Given the description of an element on the screen output the (x, y) to click on. 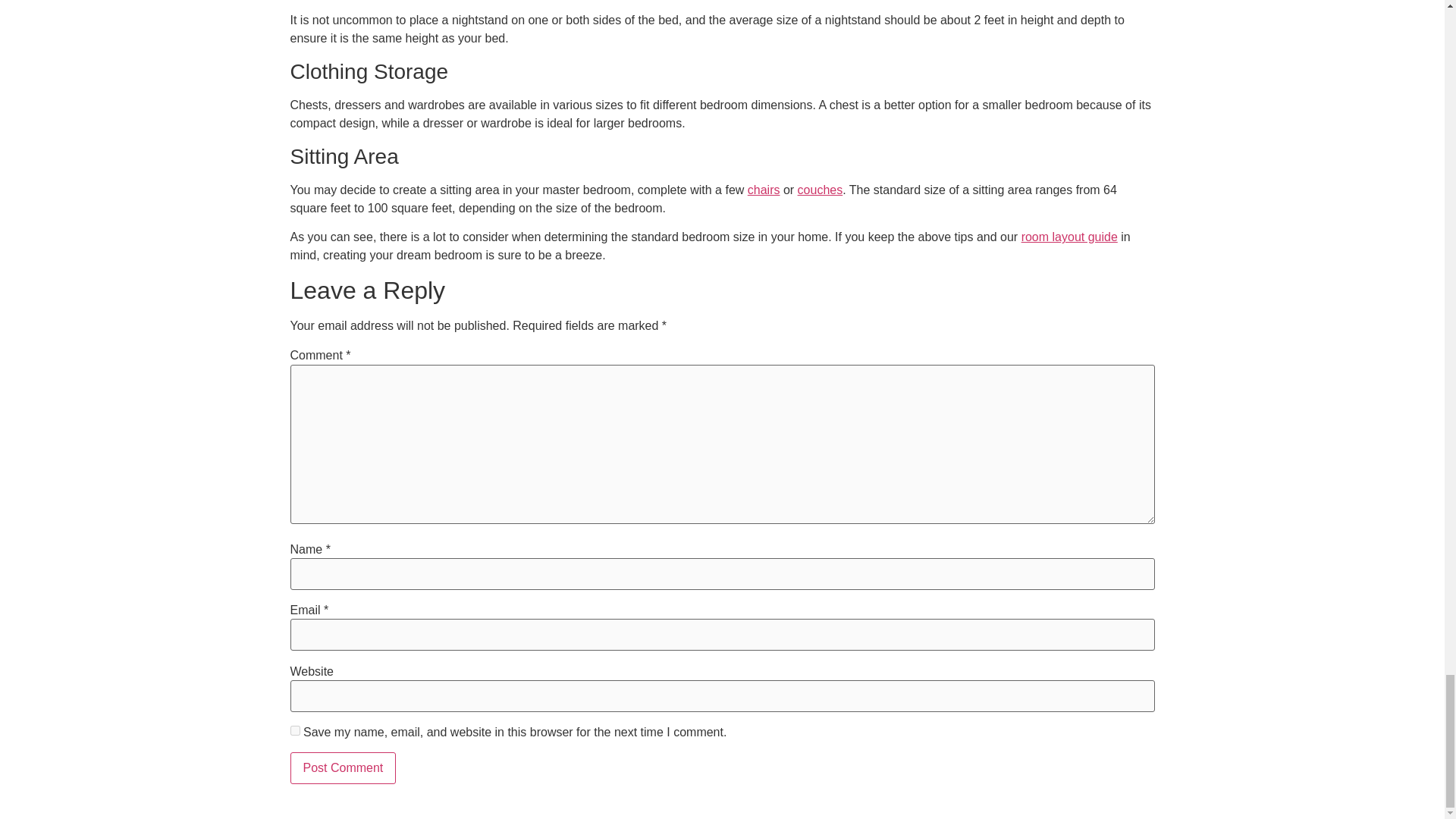
yes (294, 730)
Post Comment (342, 767)
room layout guide (1070, 236)
chairs (764, 189)
couches (820, 189)
Post Comment (342, 767)
